Given the description of an element on the screen output the (x, y) to click on. 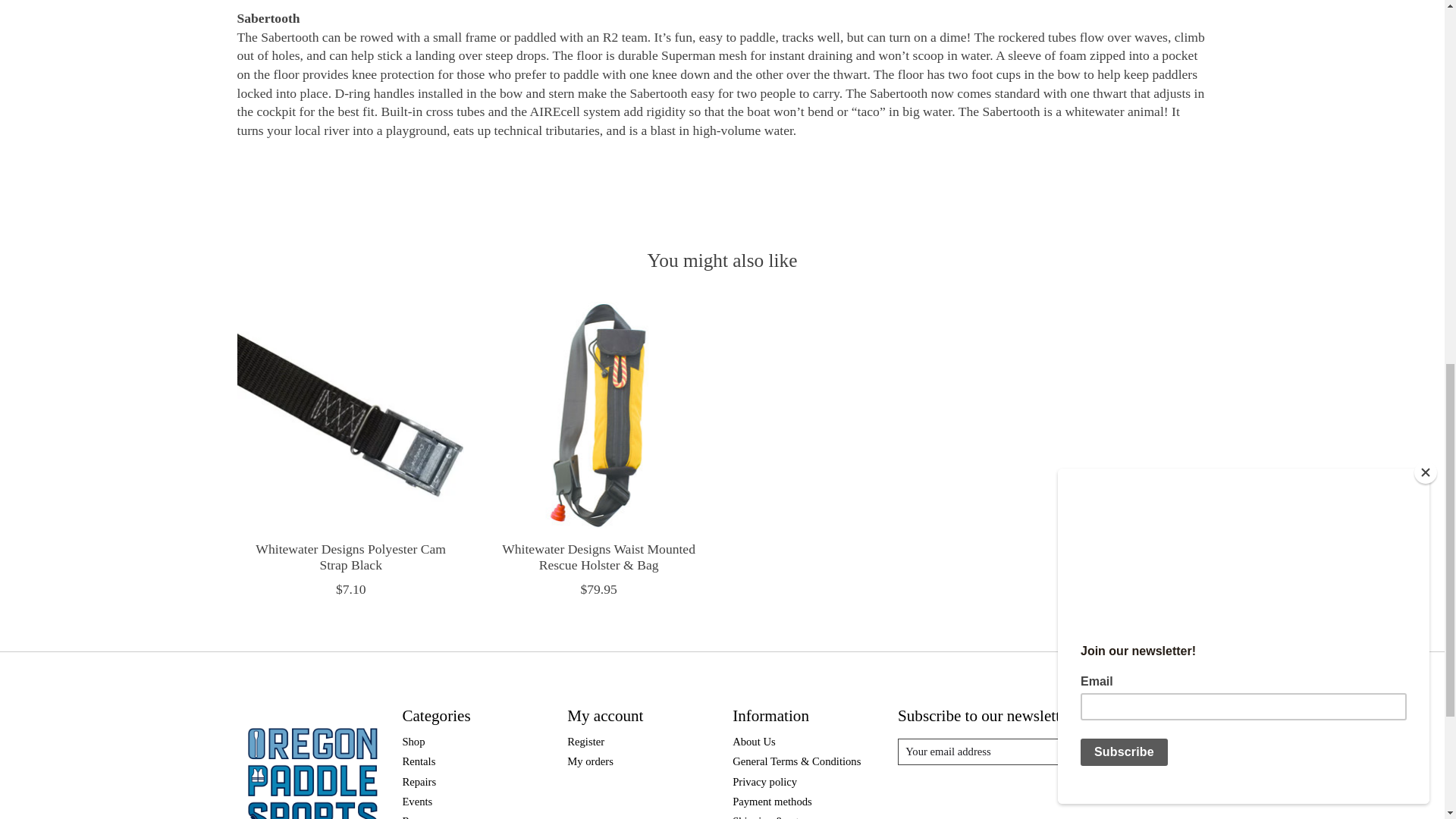
Register (585, 741)
Privacy policy (764, 781)
Payment methods (772, 801)
About Us (754, 741)
Whitewater Designs Polyester Cam Strap Black (349, 415)
My orders (589, 761)
